Given the description of an element on the screen output the (x, y) to click on. 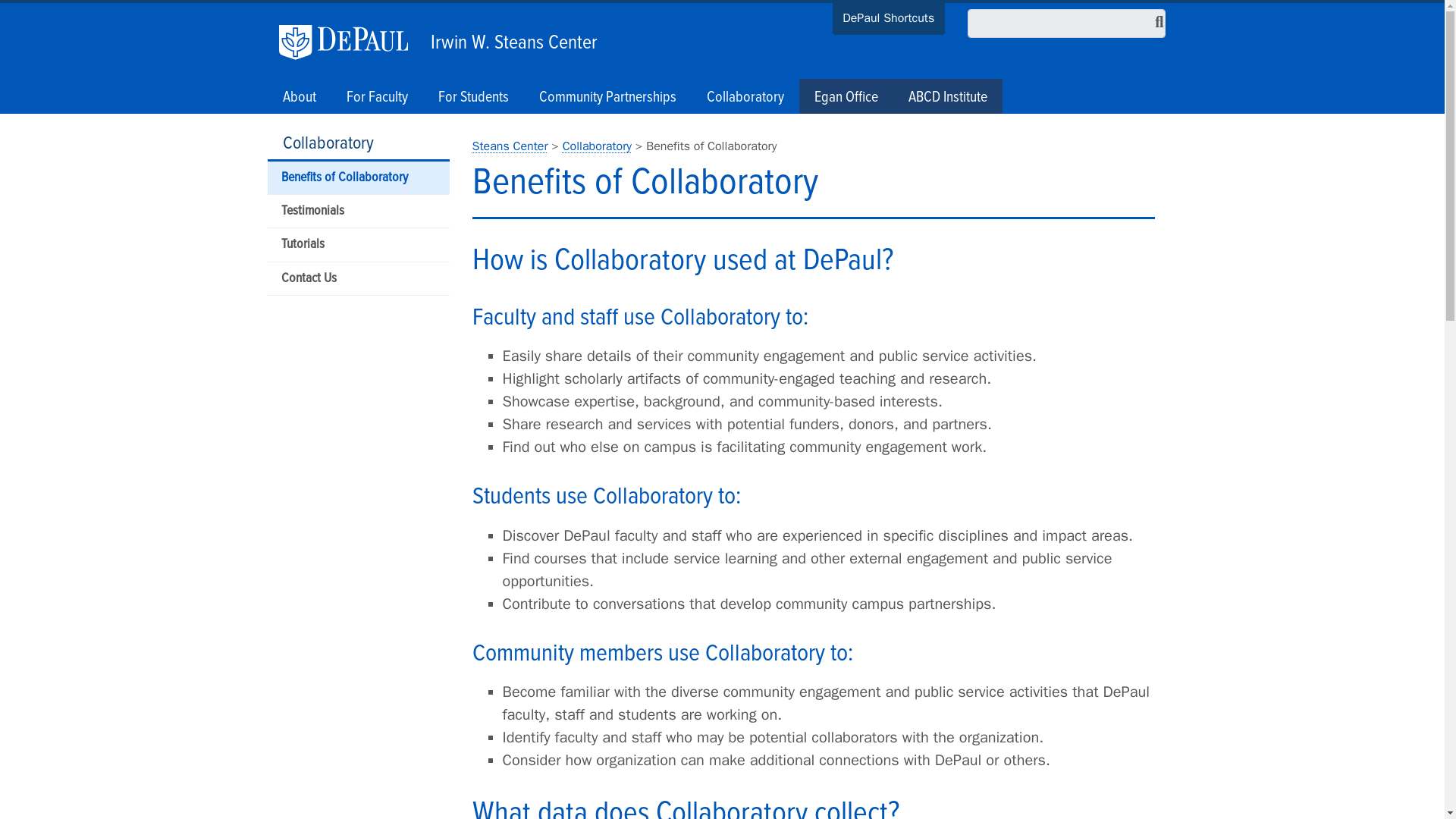
Irwin W. Steans Center (509, 39)
DePaul University (351, 42)
DePaul University Steans Center (509, 145)
DePaul Shortcuts (888, 20)
